Given the description of an element on the screen output the (x, y) to click on. 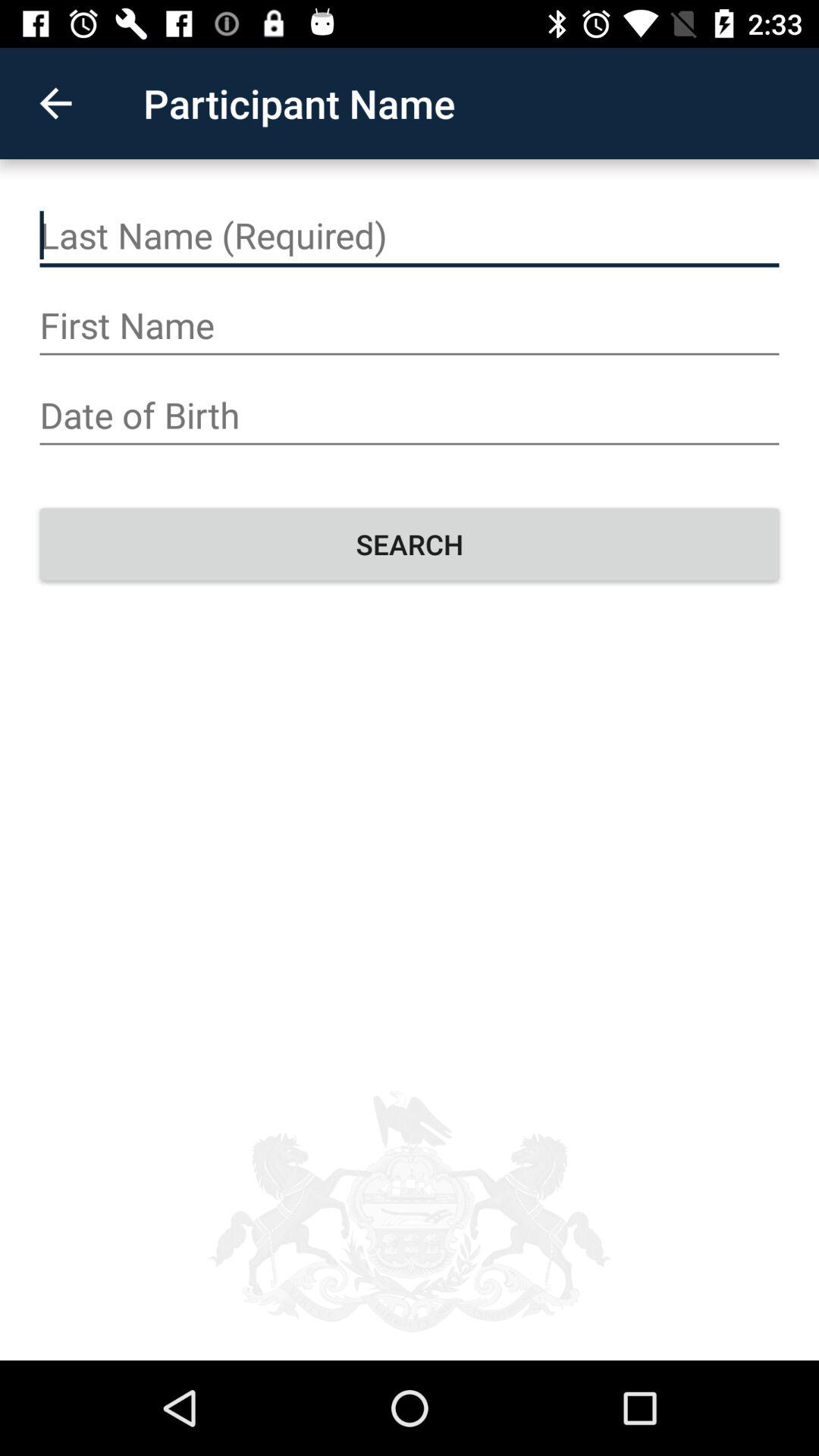
enter first name (409, 325)
